Given the description of an element on the screen output the (x, y) to click on. 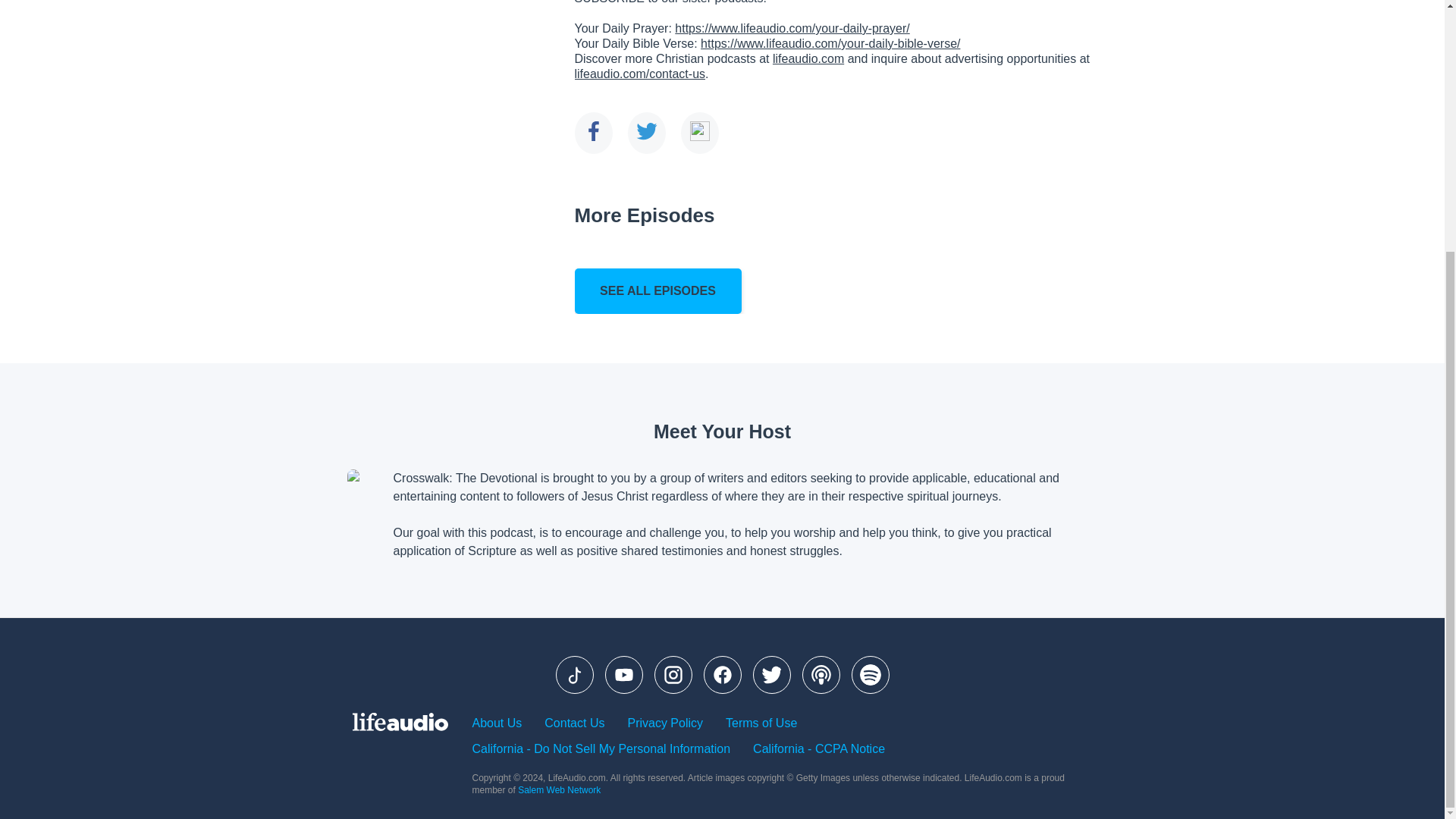
Salem Web Network (558, 789)
Contact Us (574, 723)
About Us (496, 723)
Privacy Policy (665, 723)
lifeaudio.com (808, 58)
Terms of Use (760, 723)
California - Do Not Sell My Personal Information (600, 749)
California - CCPA Notice (818, 749)
SEE ALL EPISODES (658, 290)
